Given the description of an element on the screen output the (x, y) to click on. 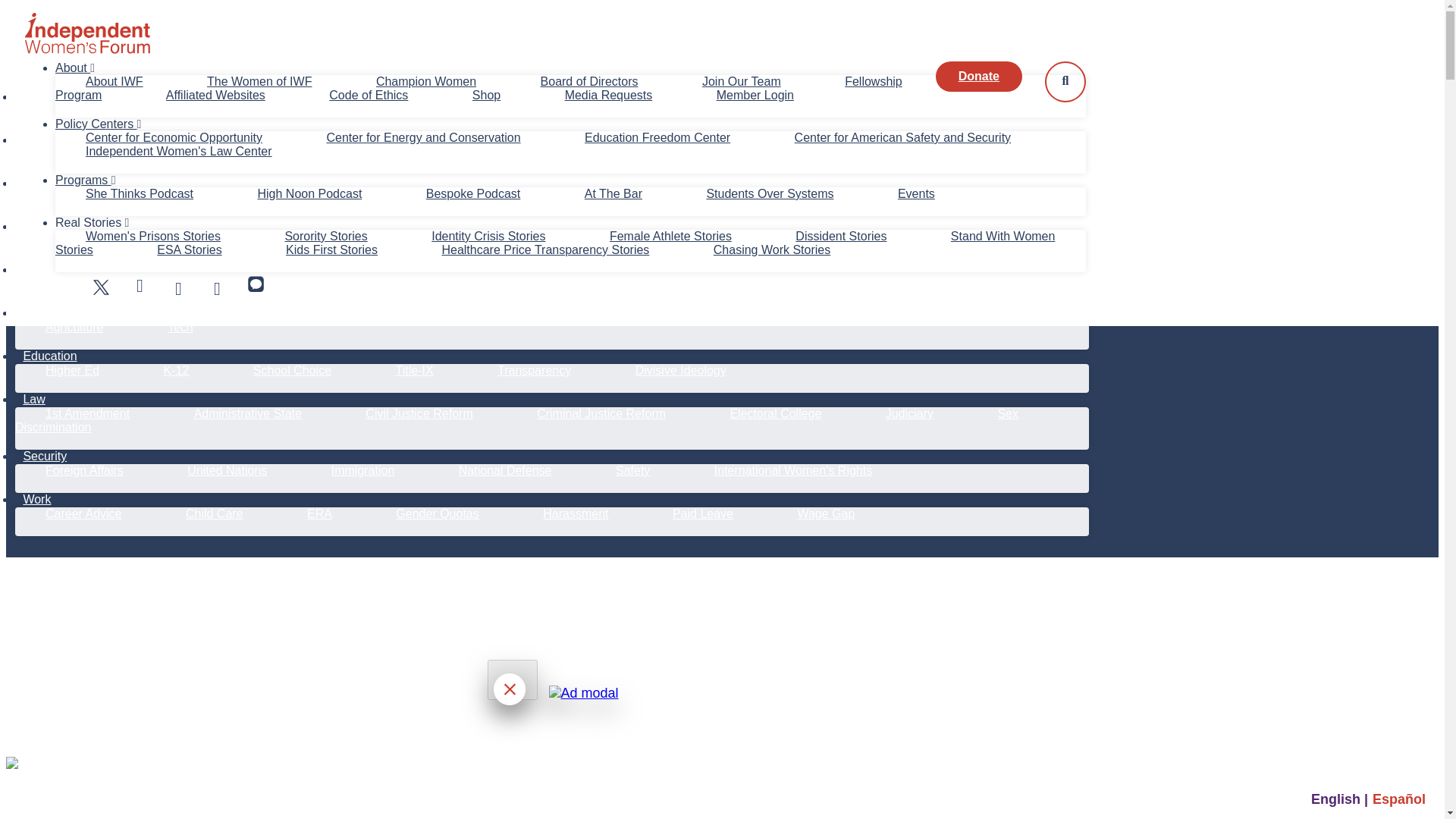
The Women of IWF (259, 81)
She Thinks Podcast (139, 193)
Join Our Team (740, 81)
Events (916, 193)
High Noon Podcast (309, 193)
Affiliated Websites (215, 94)
Board of Directors (589, 81)
Media Requests (608, 94)
Center for Economic Opportunity (173, 137)
Champion Women (426, 81)
Dissident Stories (841, 235)
Shop (486, 94)
Code of Ethics (368, 94)
Education Freedom Center (657, 137)
Bespoke Podcast (473, 193)
